Given the description of an element on the screen output the (x, y) to click on. 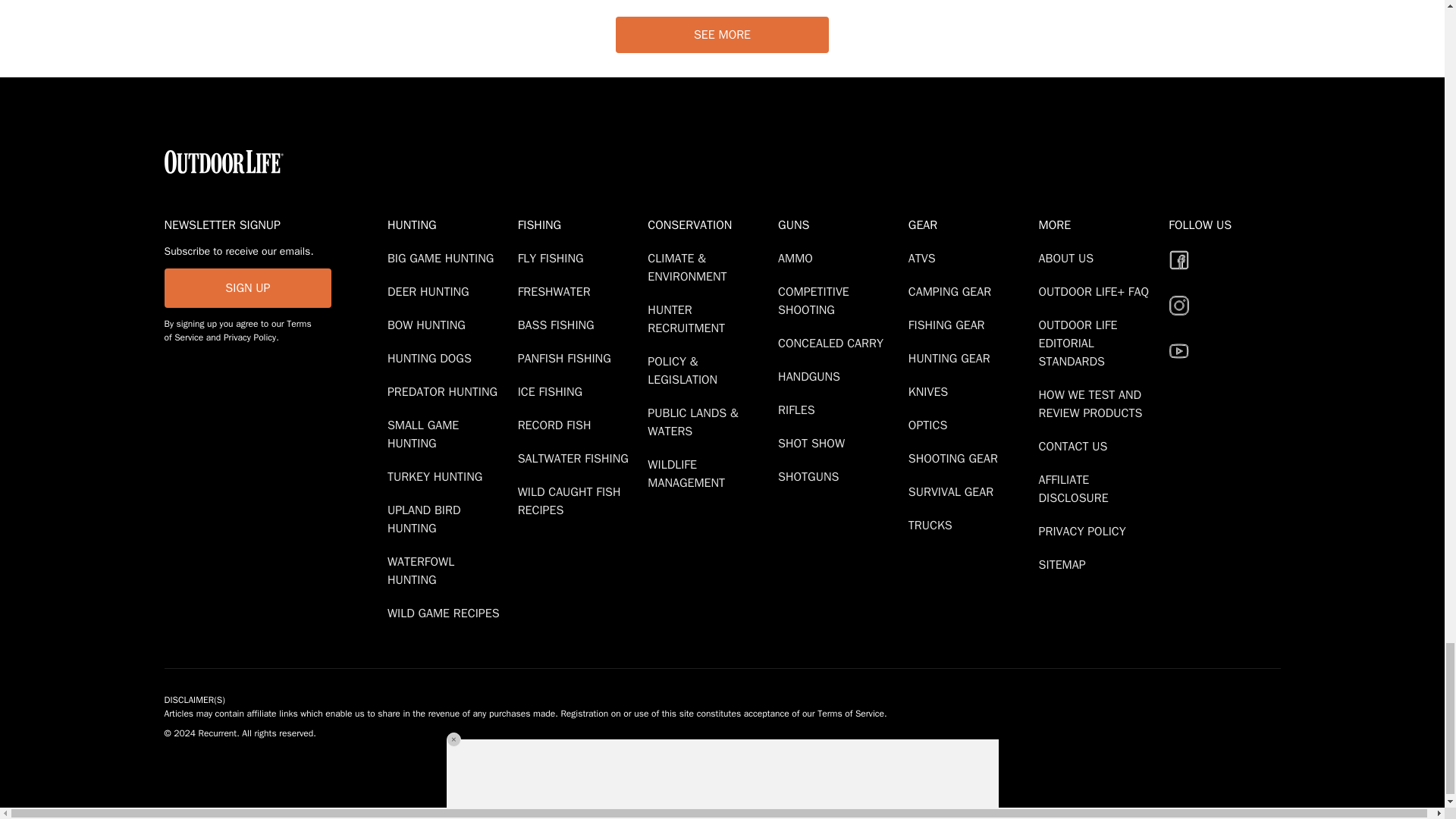
Hunting (449, 225)
Big Game Hunting (443, 258)
